Given the description of an element on the screen output the (x, y) to click on. 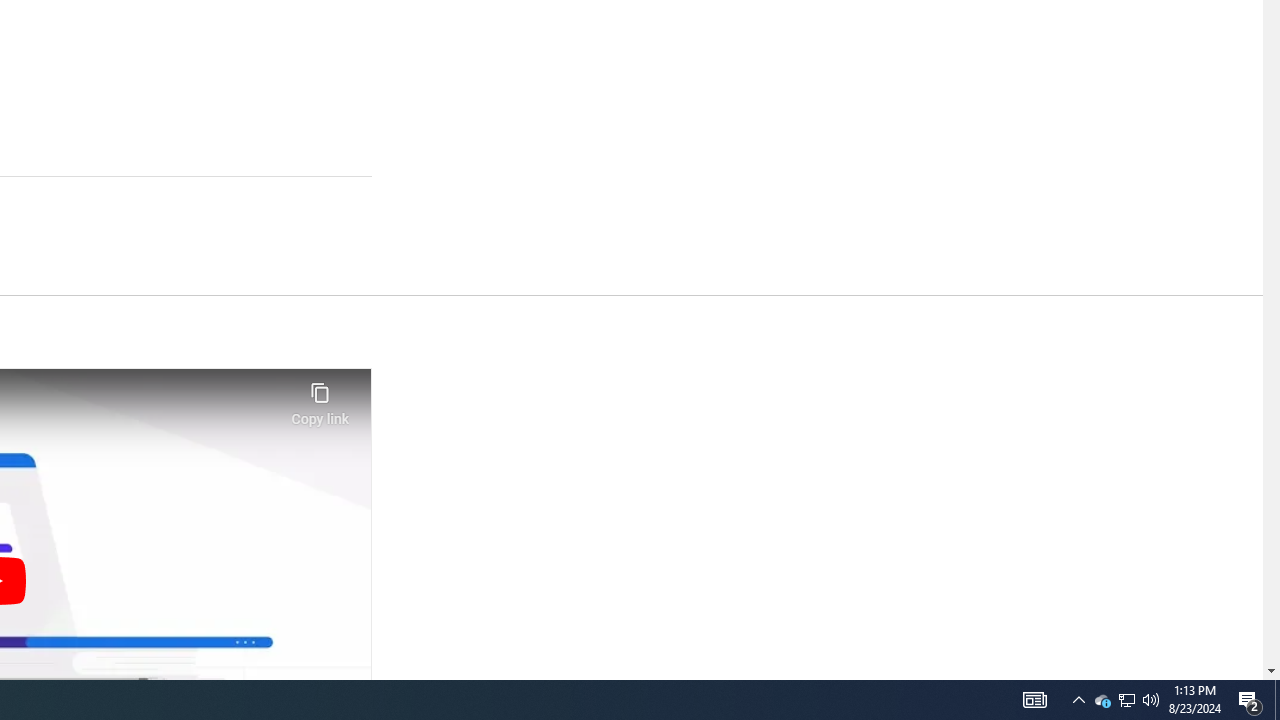
Copy link (319, 398)
